Given the description of an element on the screen output the (x, y) to click on. 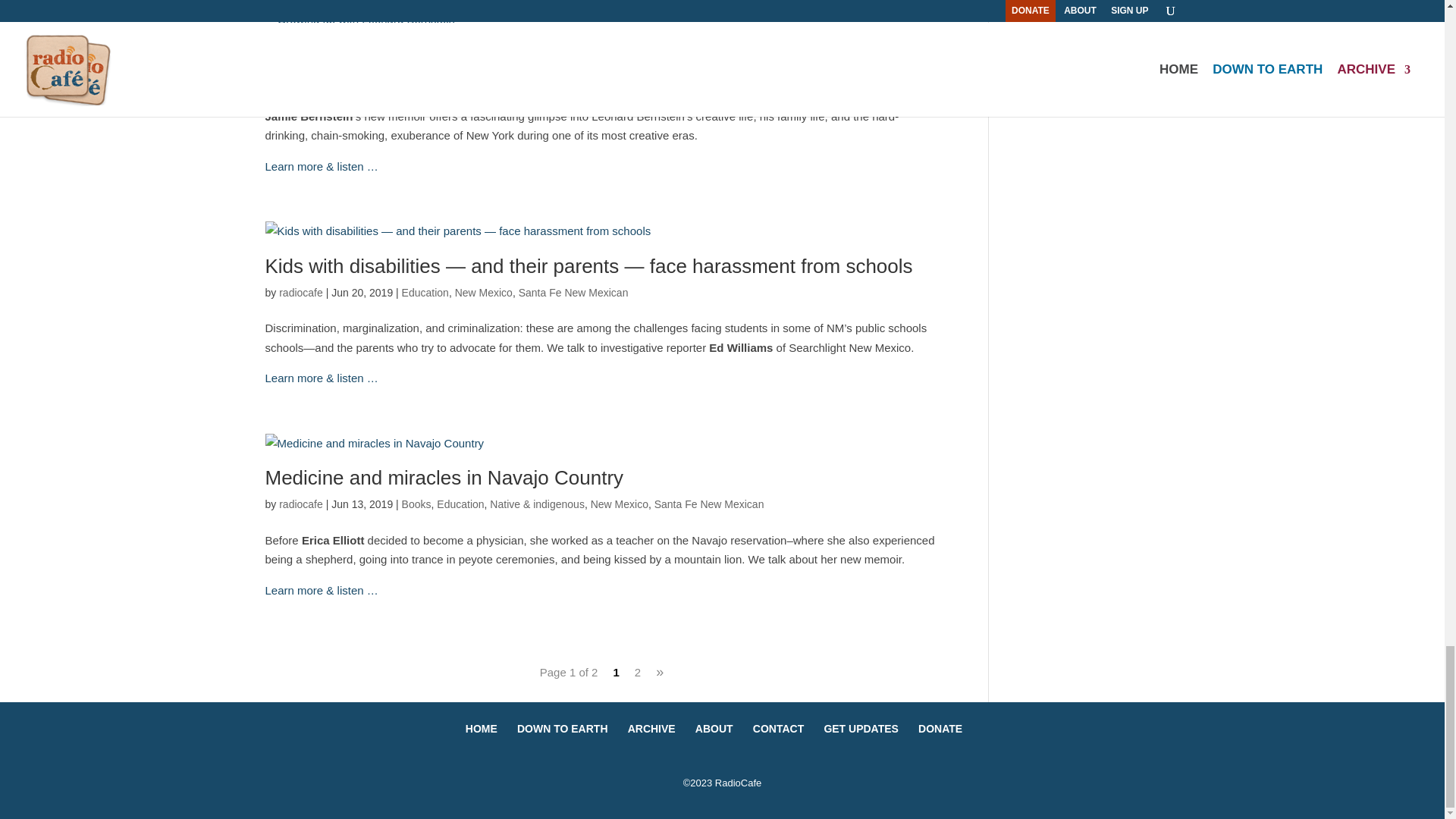
Posts by radiocafe (301, 503)
Posts by radiocafe (301, 292)
Posts by radiocafe (301, 80)
